Given the description of an element on the screen output the (x, y) to click on. 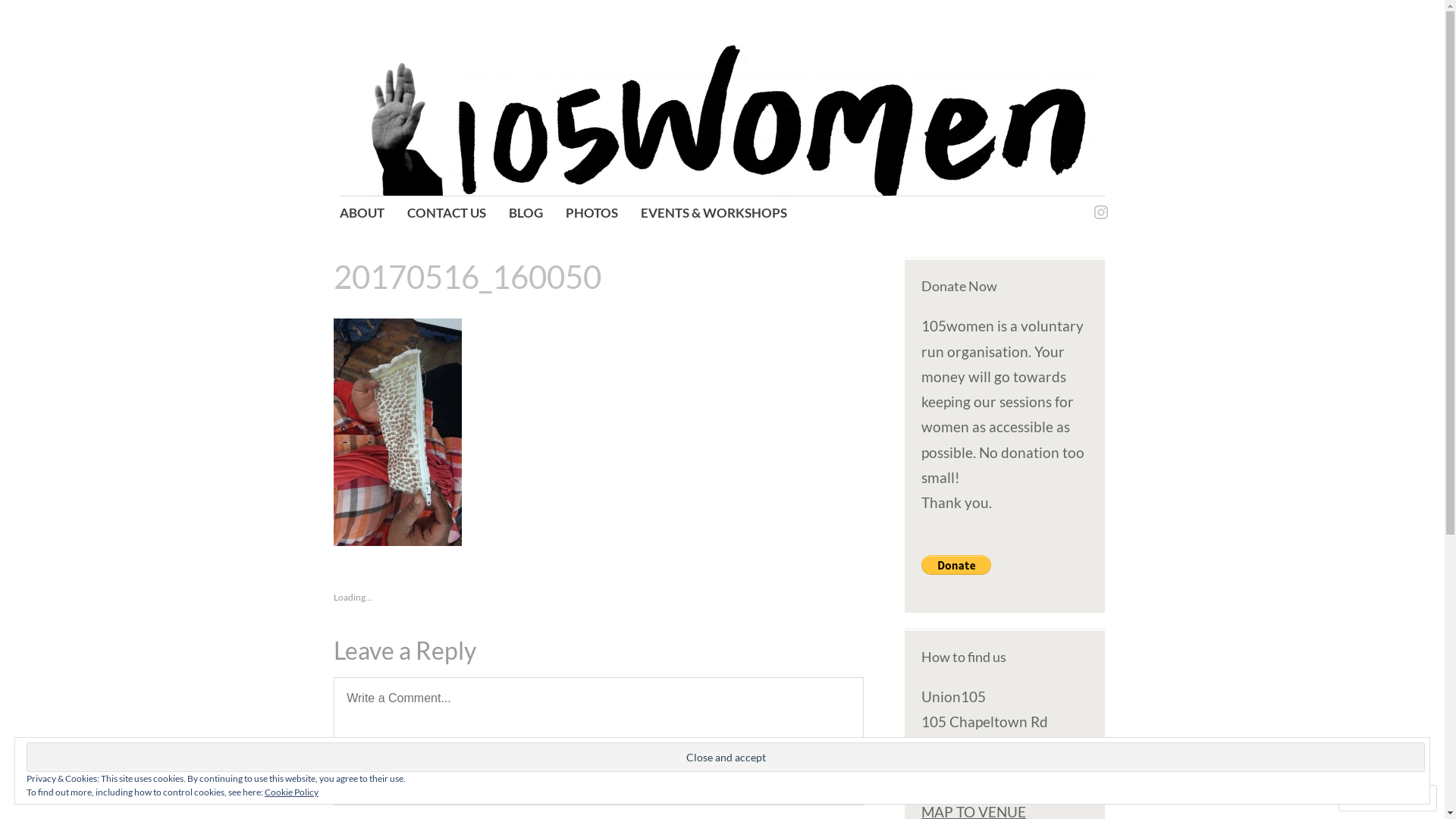
ABOUT Element type: text (361, 214)
Close and accept Element type: text (725, 756)
Reply Element type: text (821, 778)
105women Element type: text (450, 100)
Cookie Policy Element type: text (291, 791)
CONTACT US Element type: text (446, 214)
Like or Reblog Element type: hover (598, 603)
BLOG Element type: text (525, 214)
EVENTS & WORKSHOPS Element type: text (713, 214)
Follow Element type: text (1372, 797)
PHOTOS Element type: text (591, 214)
